Given the description of an element on the screen output the (x, y) to click on. 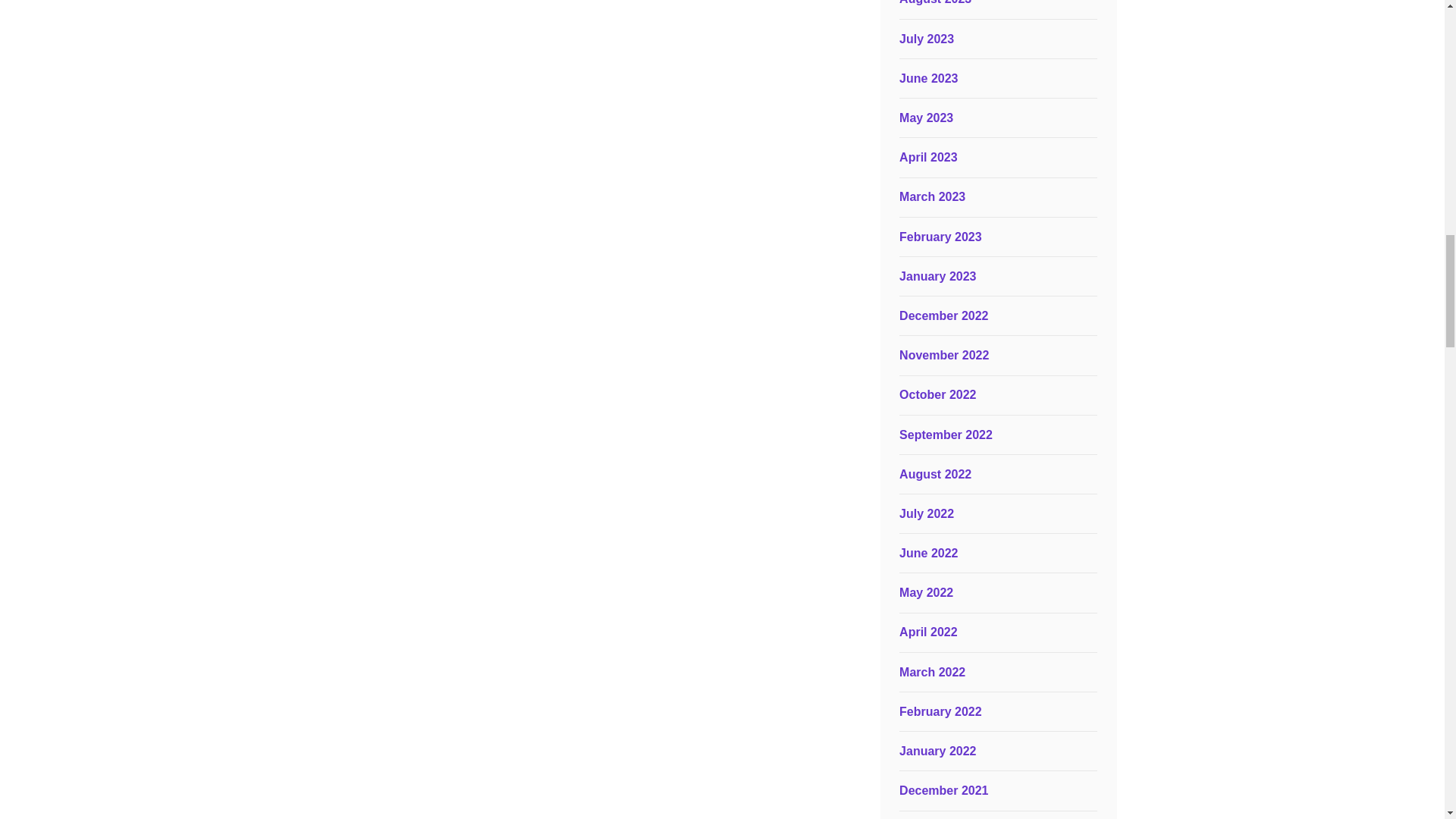
March 2023 (932, 196)
August 2023 (935, 2)
June 2023 (928, 78)
December 2022 (943, 315)
November 2022 (943, 354)
July 2023 (926, 38)
May 2023 (926, 117)
February 2023 (940, 236)
April 2023 (927, 156)
January 2023 (937, 276)
